Given the description of an element on the screen output the (x, y) to click on. 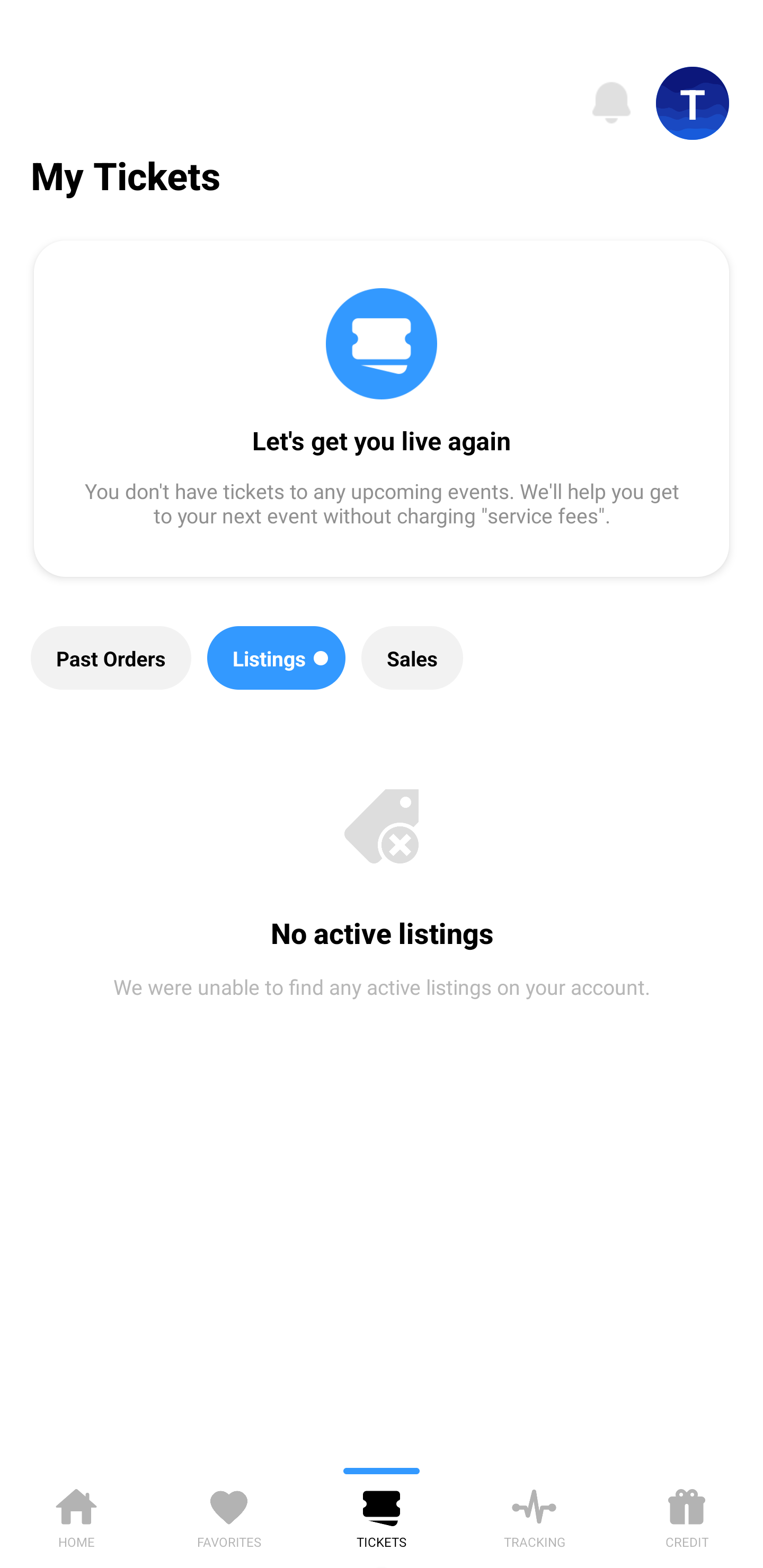
T (692, 103)
Past Orders (110, 657)
Listings (276, 657)
Sales (412, 657)
HOME (76, 1515)
FAVORITES (228, 1515)
TICKETS (381, 1515)
TRACKING (533, 1515)
CREDIT (686, 1515)
